Given the description of an element on the screen output the (x, y) to click on. 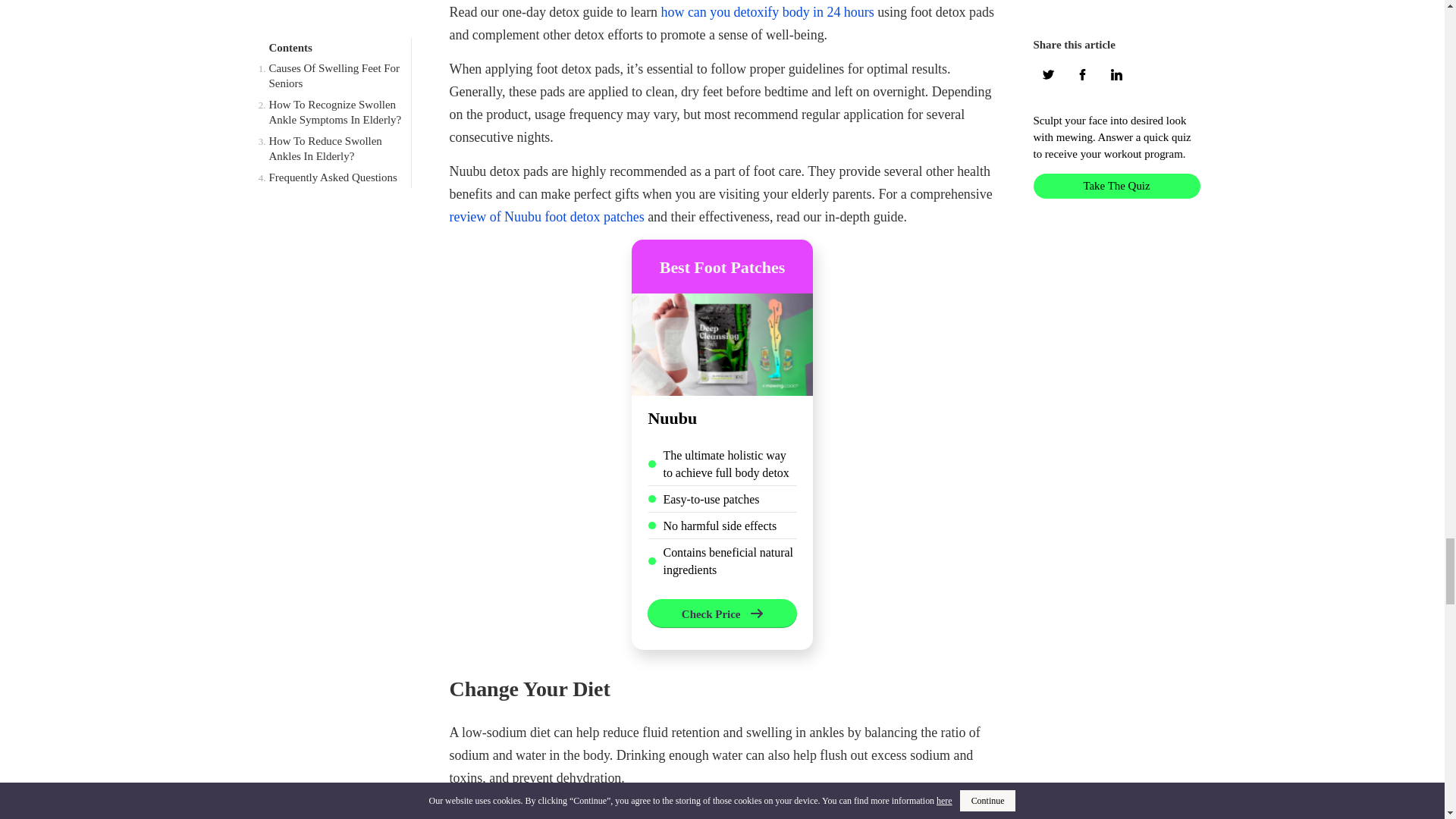
Nuubu foot patches review (721, 344)
Check Price (721, 613)
review of Nuubu foot detox patches (545, 216)
how can you detoxify body in 24 hours (768, 11)
